Given the description of an element on the screen output the (x, y) to click on. 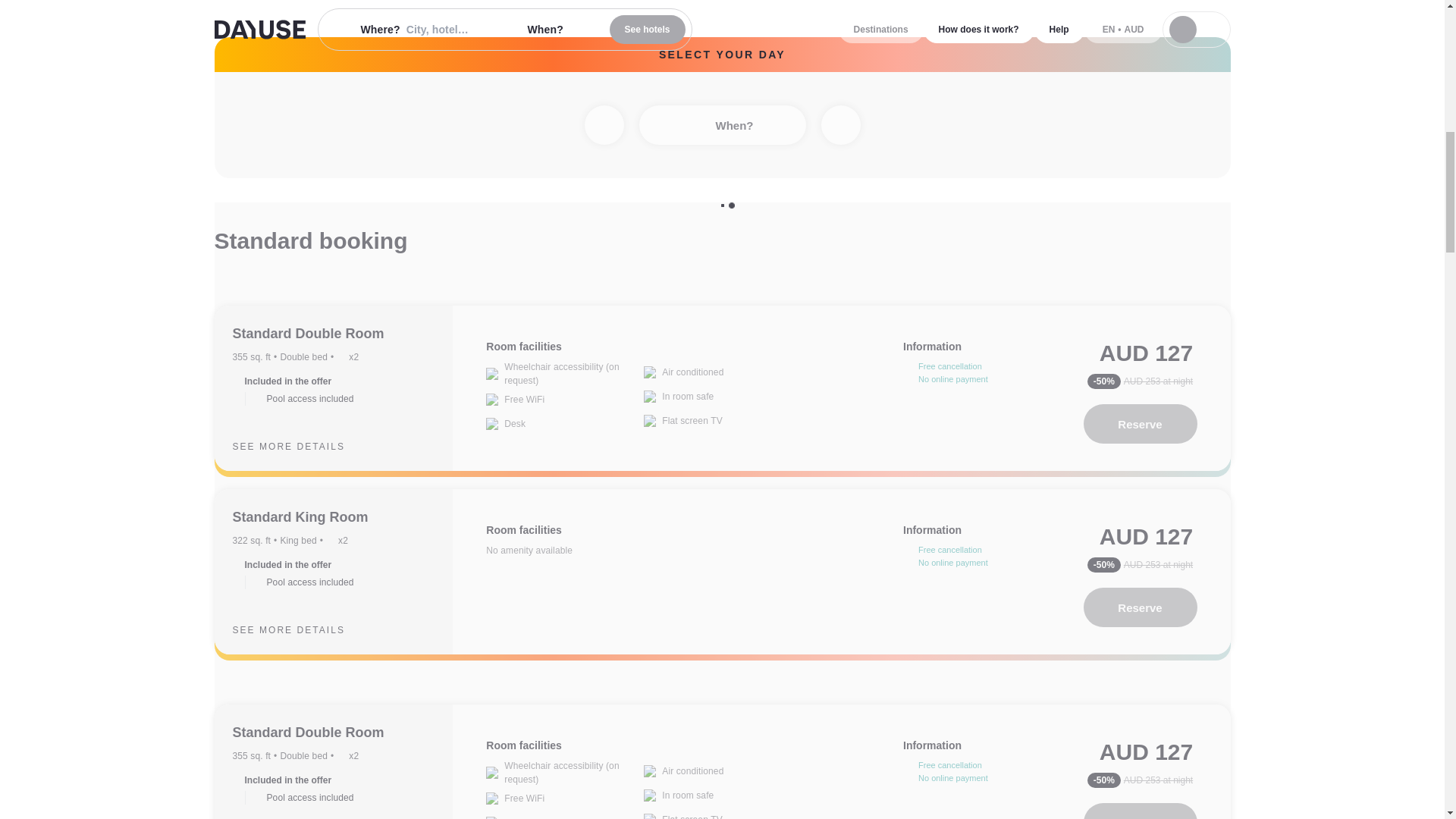
SEE MORE DETAILS (300, 629)
Reserve (1139, 607)
Reserve (1139, 423)
When? (722, 124)
Next day (840, 124)
Previous day (603, 124)
SEE MORE DETAILS (300, 446)
